Given the description of an element on the screen output the (x, y) to click on. 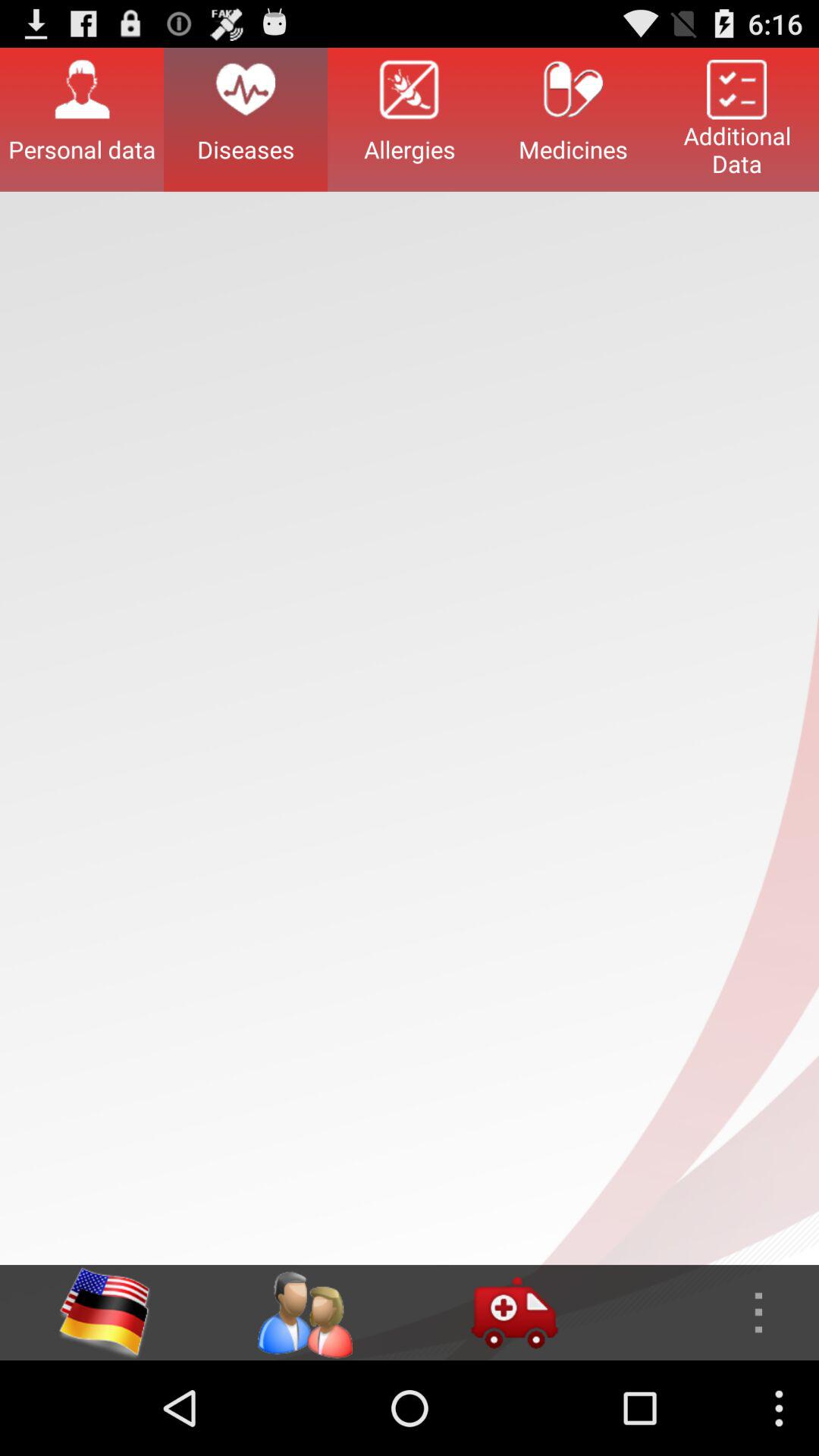
turn on the personal data button (81, 119)
